Given the description of an element on the screen output the (x, y) to click on. 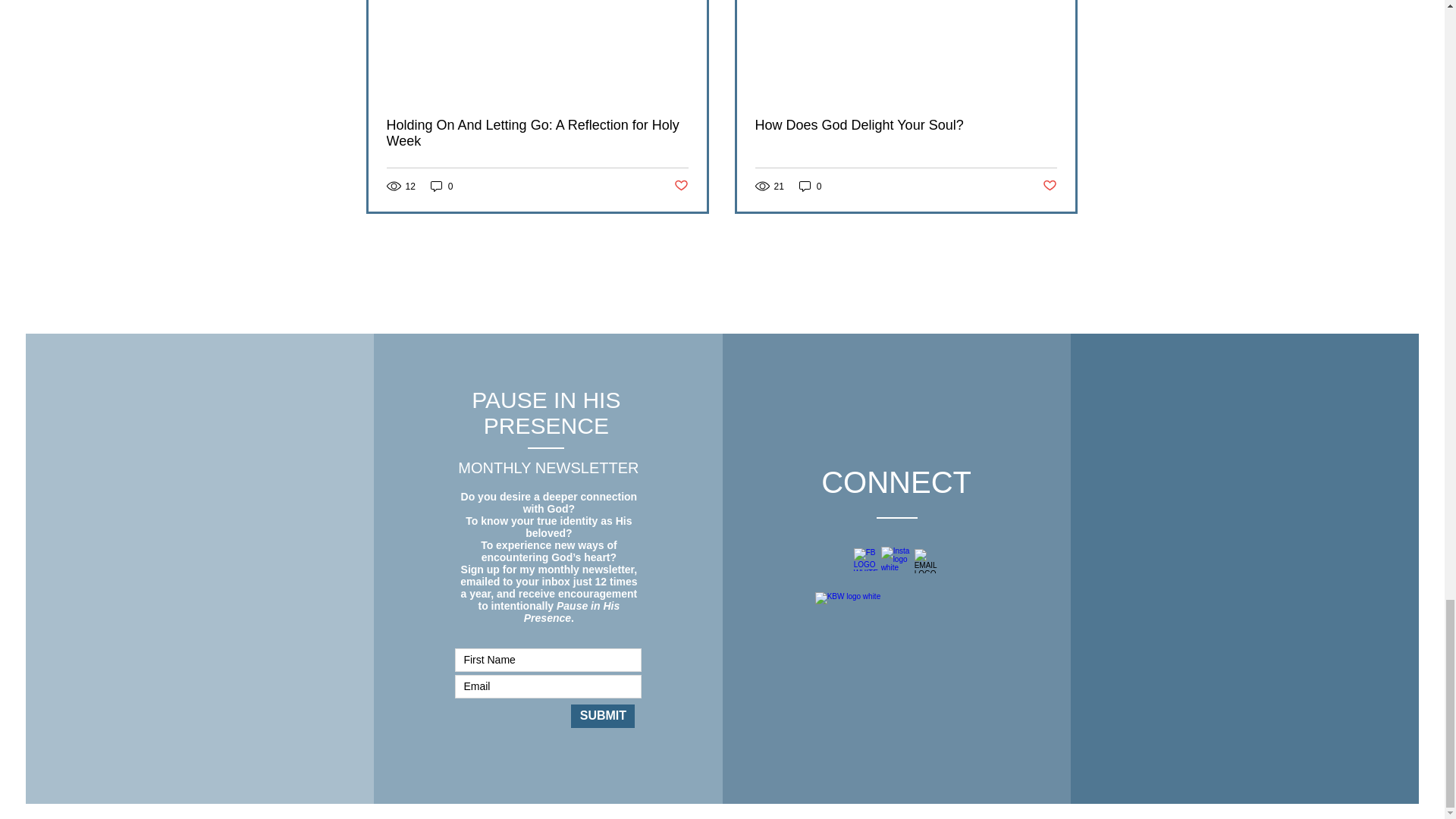
Post not marked as liked (679, 186)
0 (441, 186)
0 (810, 186)
SUBMIT (602, 716)
Holding On And Letting Go: A Reflection for Holy Week (537, 133)
Post not marked as liked (1049, 186)
How Does God Delight Your Soul? (906, 125)
